Given the description of an element on the screen output the (x, y) to click on. 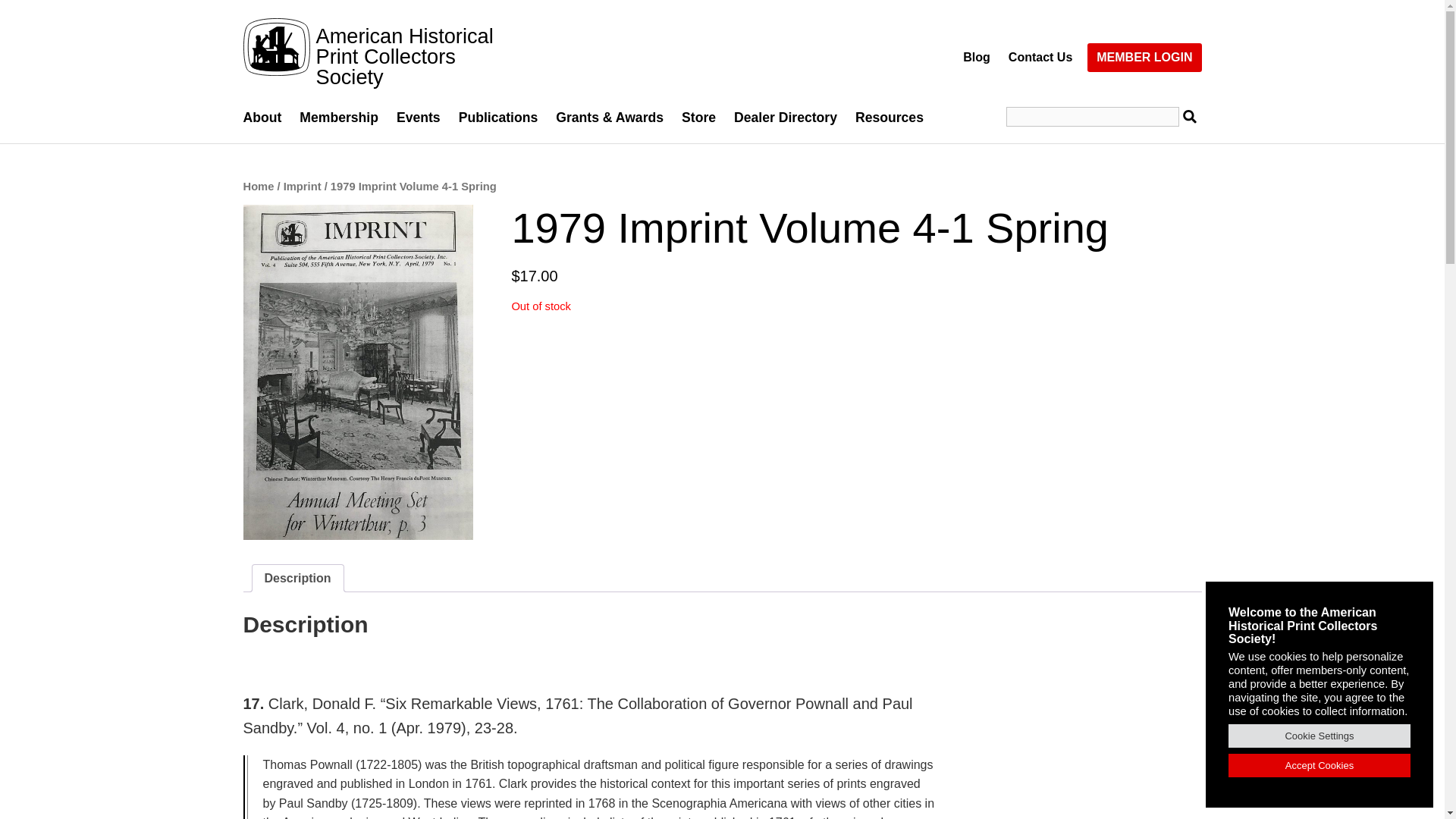
Blog (975, 57)
Resources (889, 117)
Contact Us (1039, 57)
Publications (498, 117)
American Historical Print Collectors Society (380, 56)
Search (32, 13)
Store (698, 117)
Home (258, 186)
Membership (338, 117)
About (266, 117)
Description (296, 578)
Dealer Directory (785, 117)
MEMBER LOGIN (1144, 57)
Imprint (302, 186)
Events (418, 117)
